Given the description of an element on the screen output the (x, y) to click on. 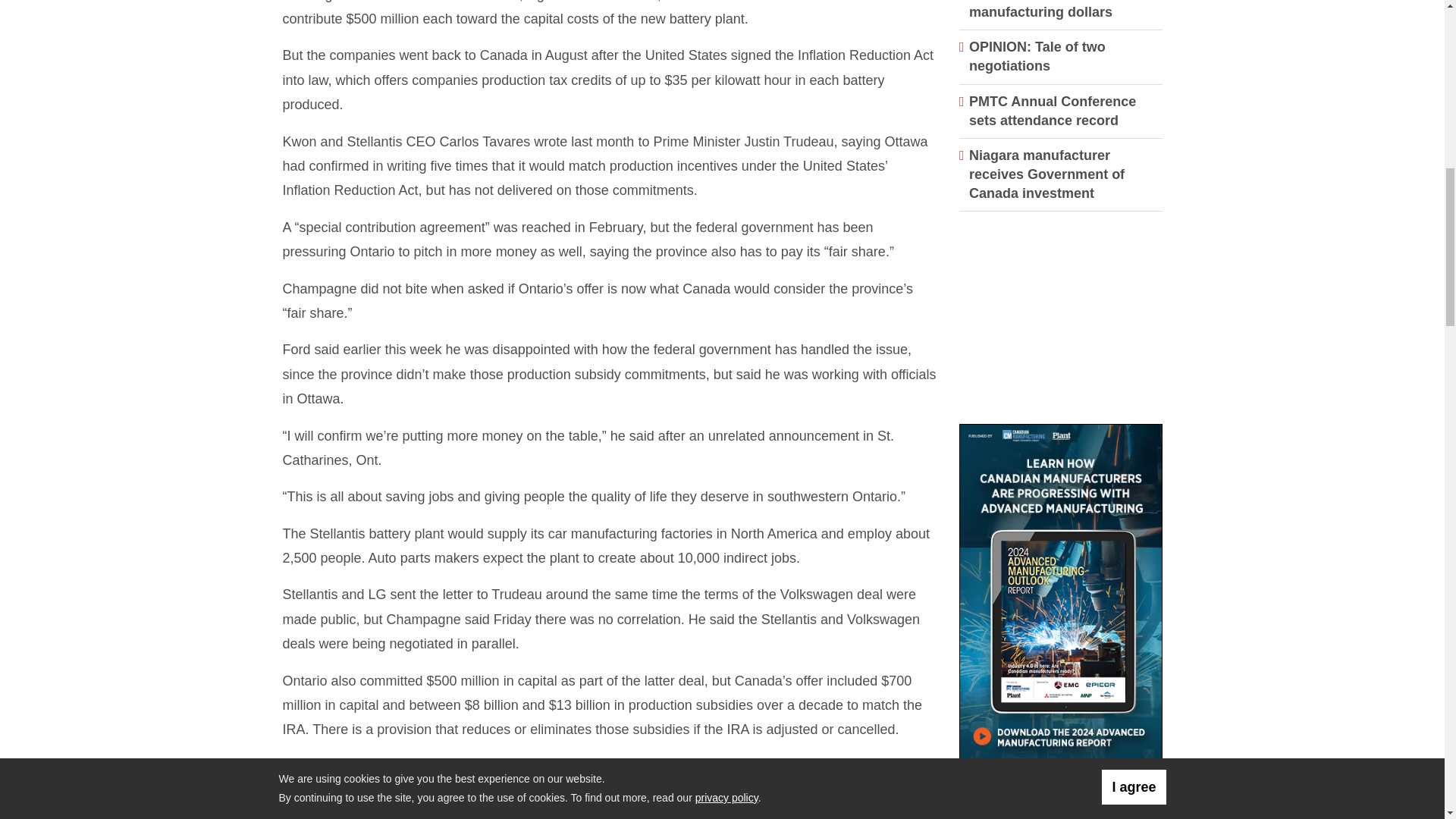
3rd party ad content (1060, 321)
